Given the description of an element on the screen output the (x, y) to click on. 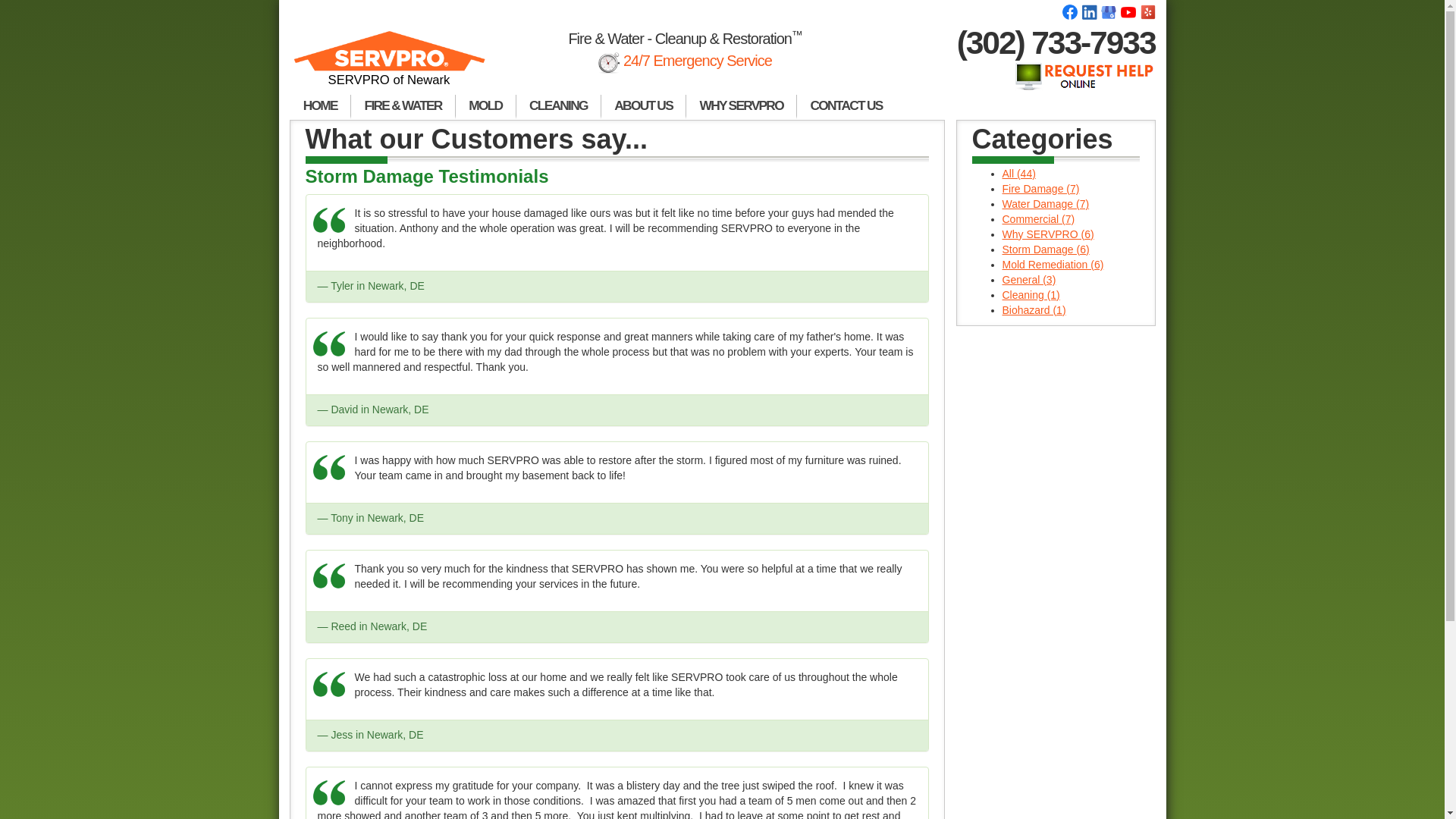
ABOUT US (643, 106)
HOME (319, 106)
MOLD (485, 106)
CLEANING (558, 106)
SERVPRO of Newark (389, 64)
